Given the description of an element on the screen output the (x, y) to click on. 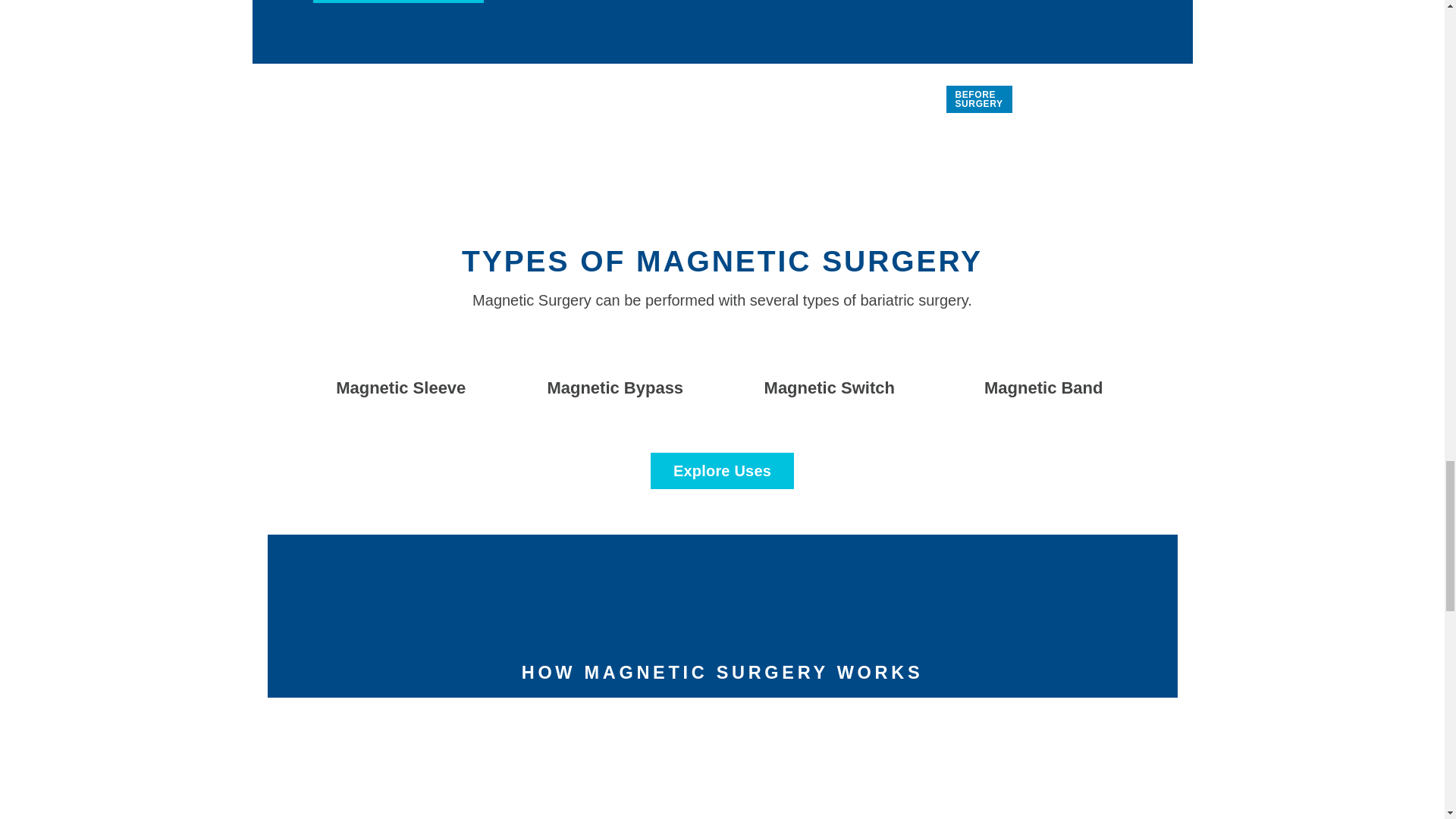
Magnetic Sleeve (400, 387)
Magnetic Bypass (614, 387)
See Testimonials (398, 1)
Magnetic Band (1043, 387)
Explore Uses (721, 470)
Magnetic Switch (829, 387)
